Given the description of an element on the screen output the (x, y) to click on. 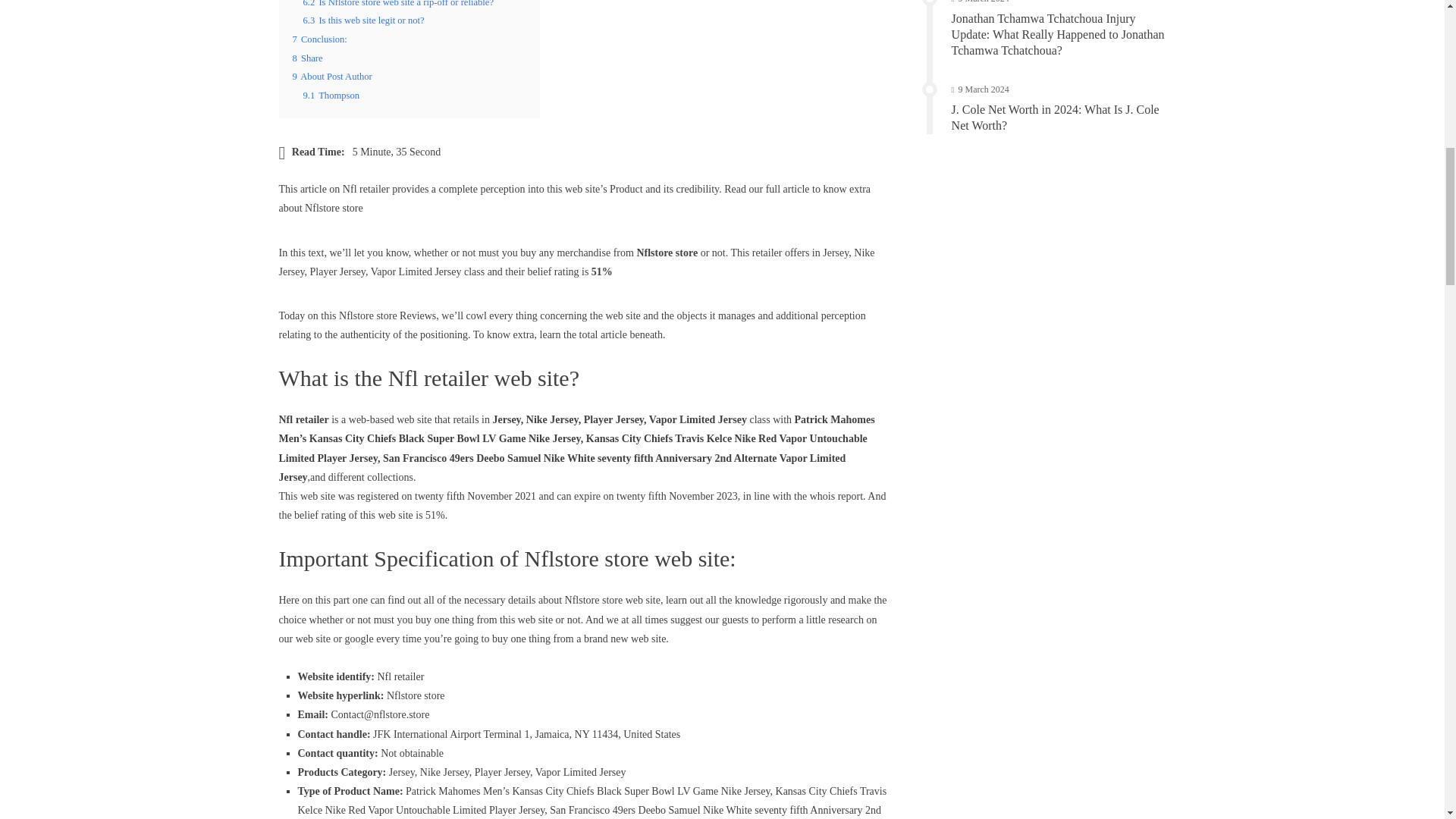
8 Share (307, 58)
9.1 Thompson (330, 95)
6.2 Is Nflstore store web site a rip-off or reliable? (397, 3)
6.3 Is this web site legit or not? (363, 20)
9 About Post Author (332, 76)
7 Conclusion: (319, 39)
